Given the description of an element on the screen output the (x, y) to click on. 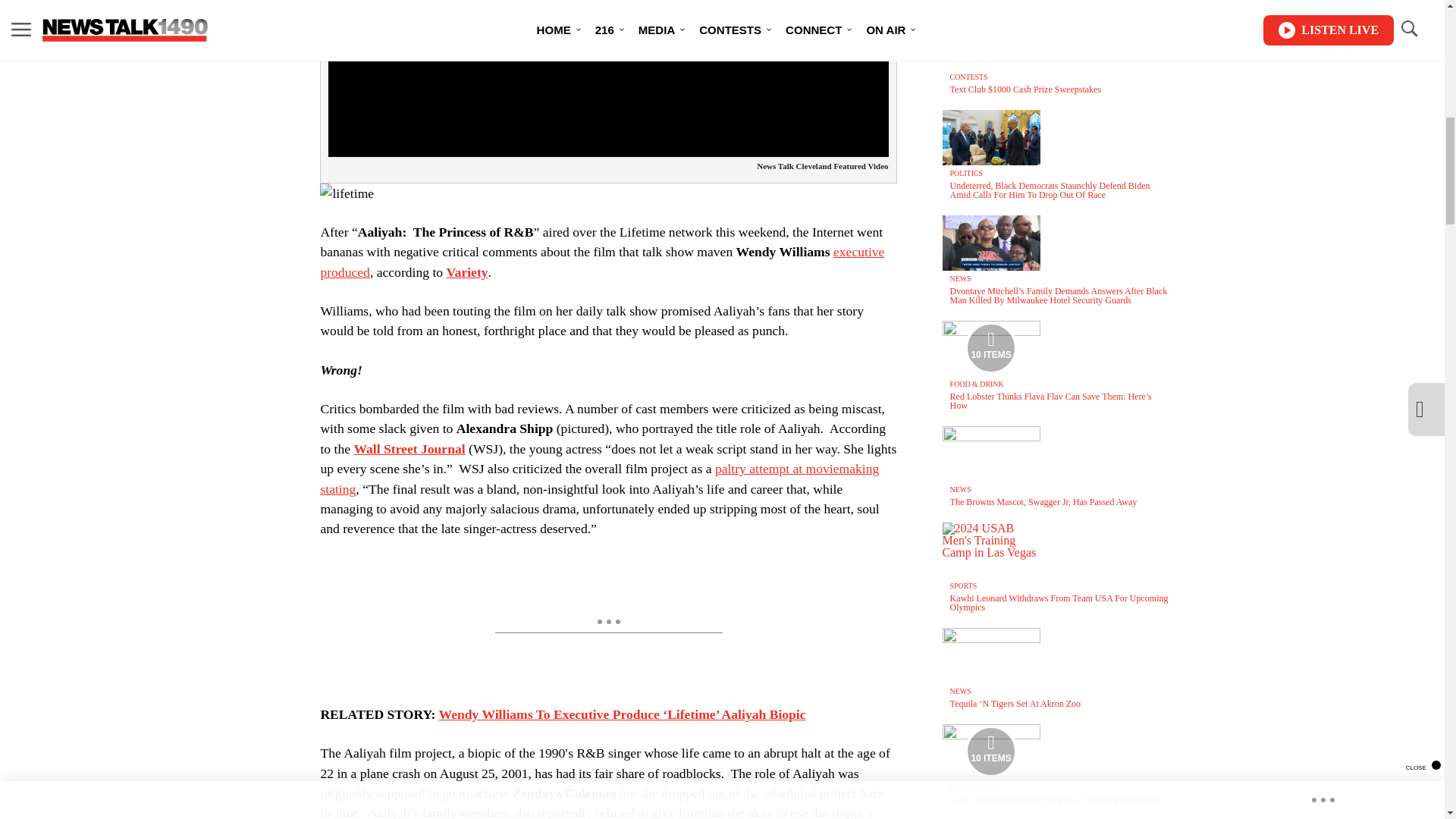
Variety (466, 272)
executive produced (601, 261)
Media Playlist (990, 347)
Wall Street Journal (408, 448)
paltry attempt at moviemaking stating (599, 478)
Media Playlist (990, 751)
